Given the description of an element on the screen output the (x, y) to click on. 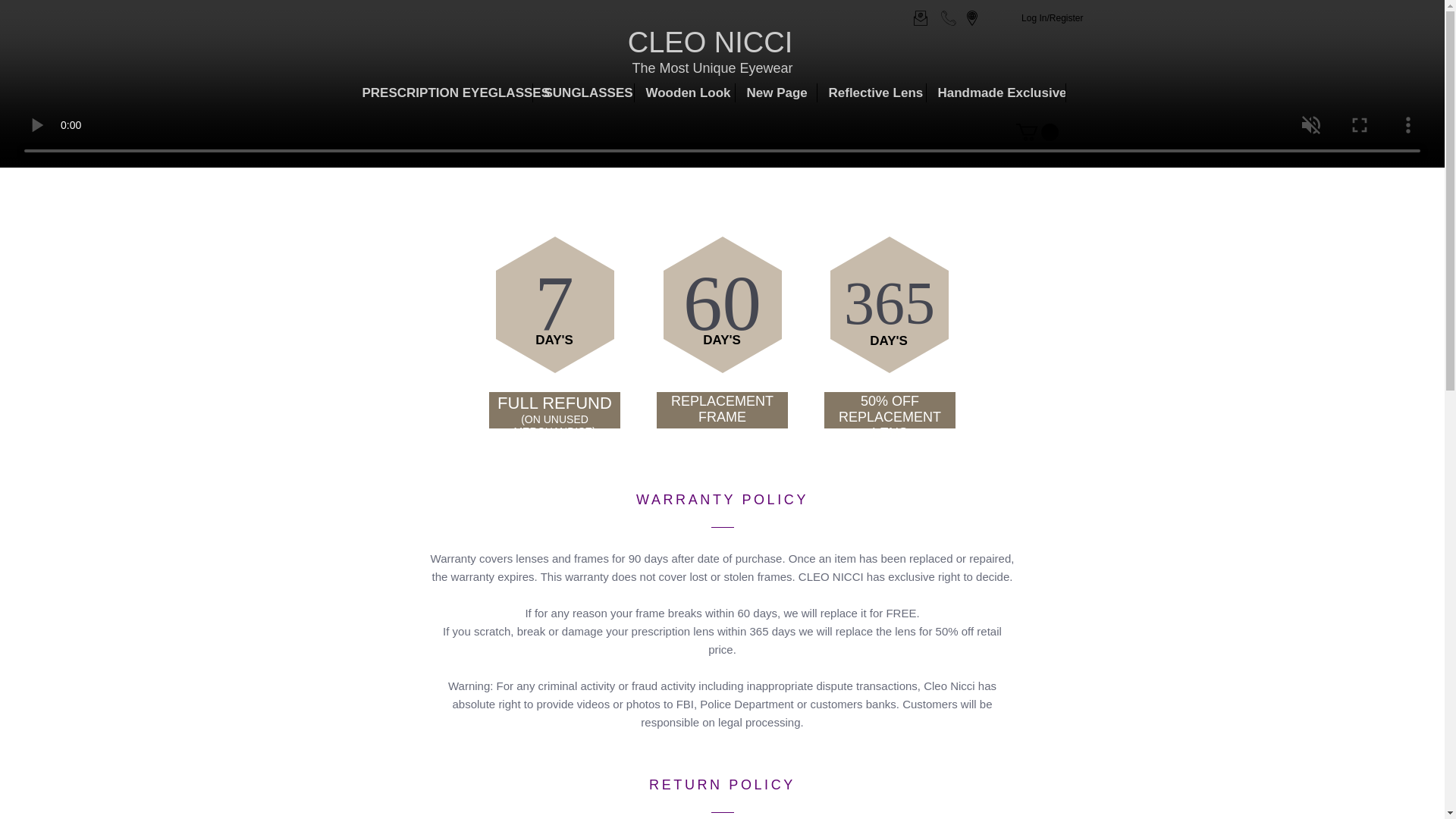
Wooden Look (683, 92)
CLEO NICCI (709, 42)
PRESCRIPTION EYEGLASSES (440, 92)
Handmade Exclusive (995, 92)
Reflective Lens (871, 92)
SUNGLASSES (582, 92)
New Page (775, 92)
